Given the description of an element on the screen output the (x, y) to click on. 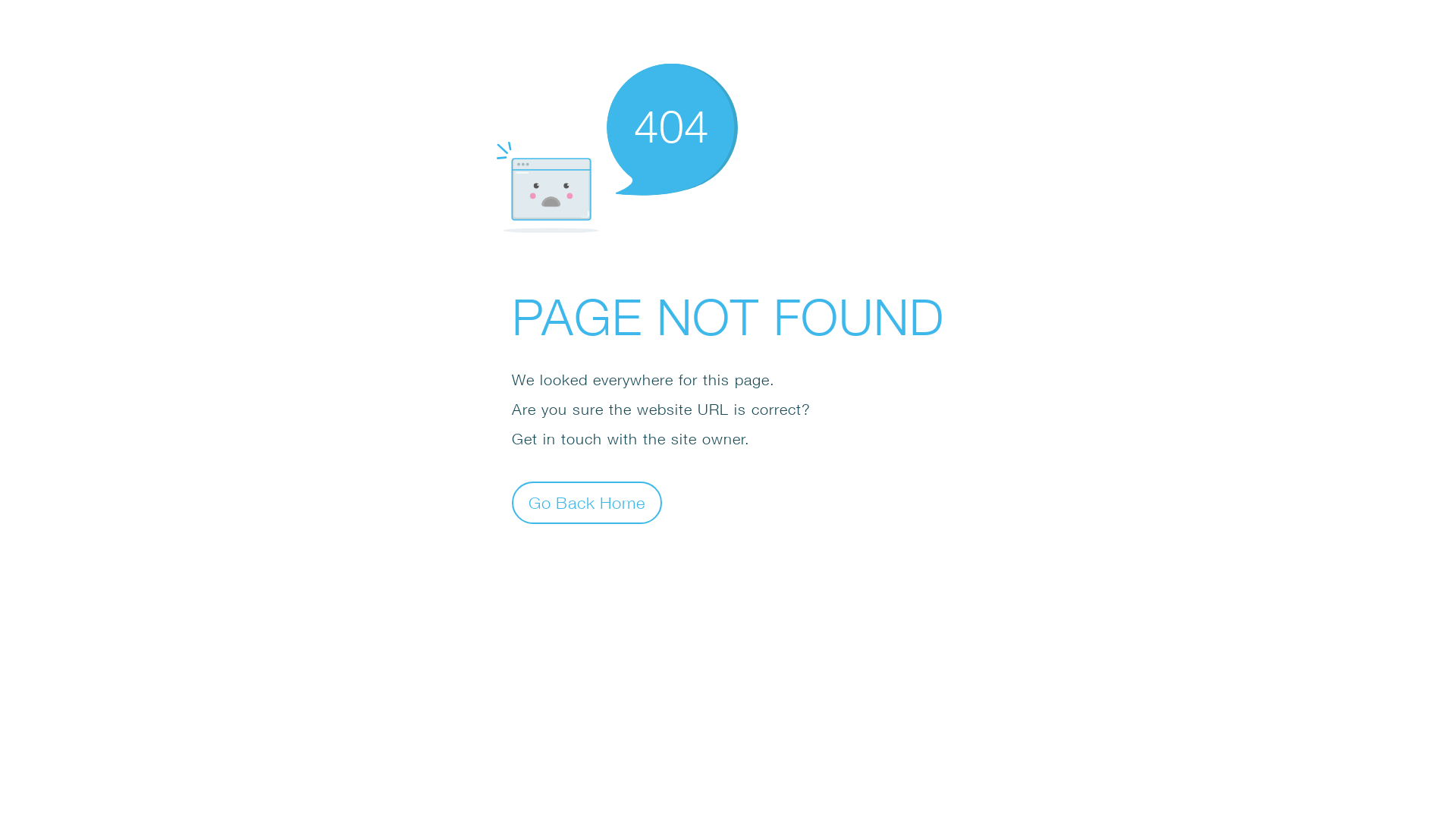
Go Back Home Element type: text (586, 502)
